Given the description of an element on the screen output the (x, y) to click on. 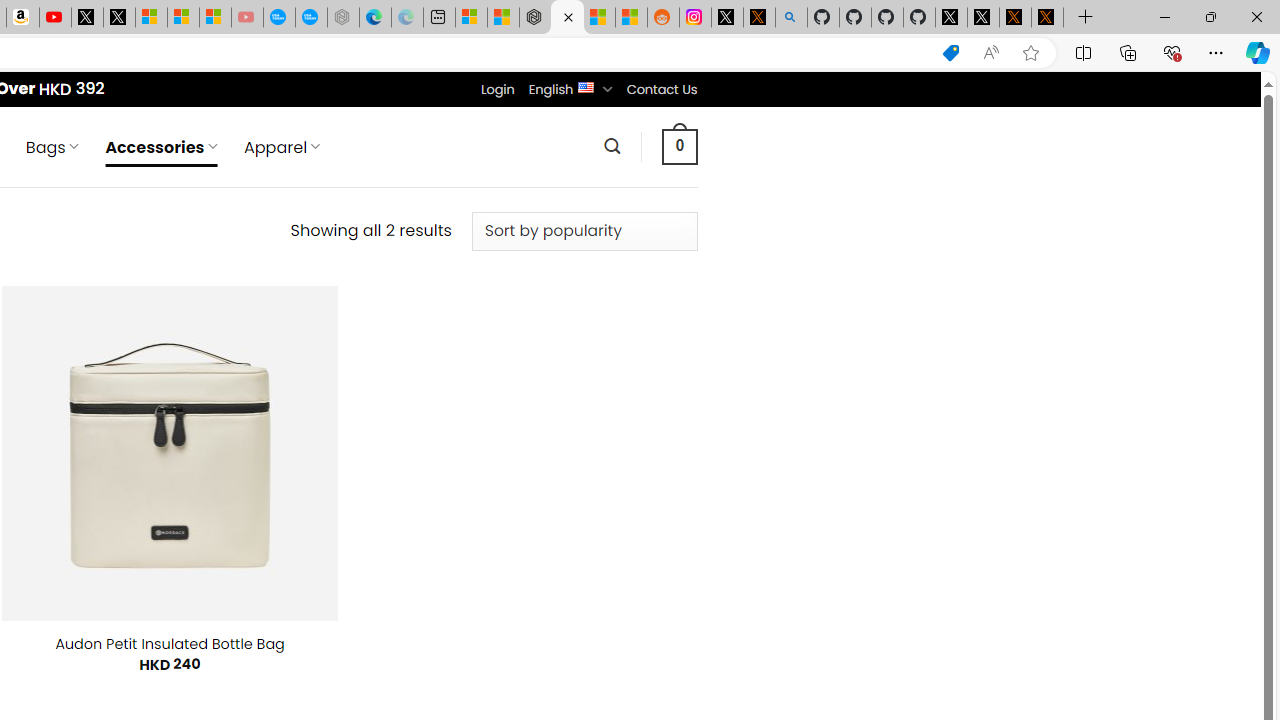
Microsoft account | Microsoft Account Privacy Settings (471, 17)
Login (497, 89)
English (586, 86)
